Given the description of an element on the screen output the (x, y) to click on. 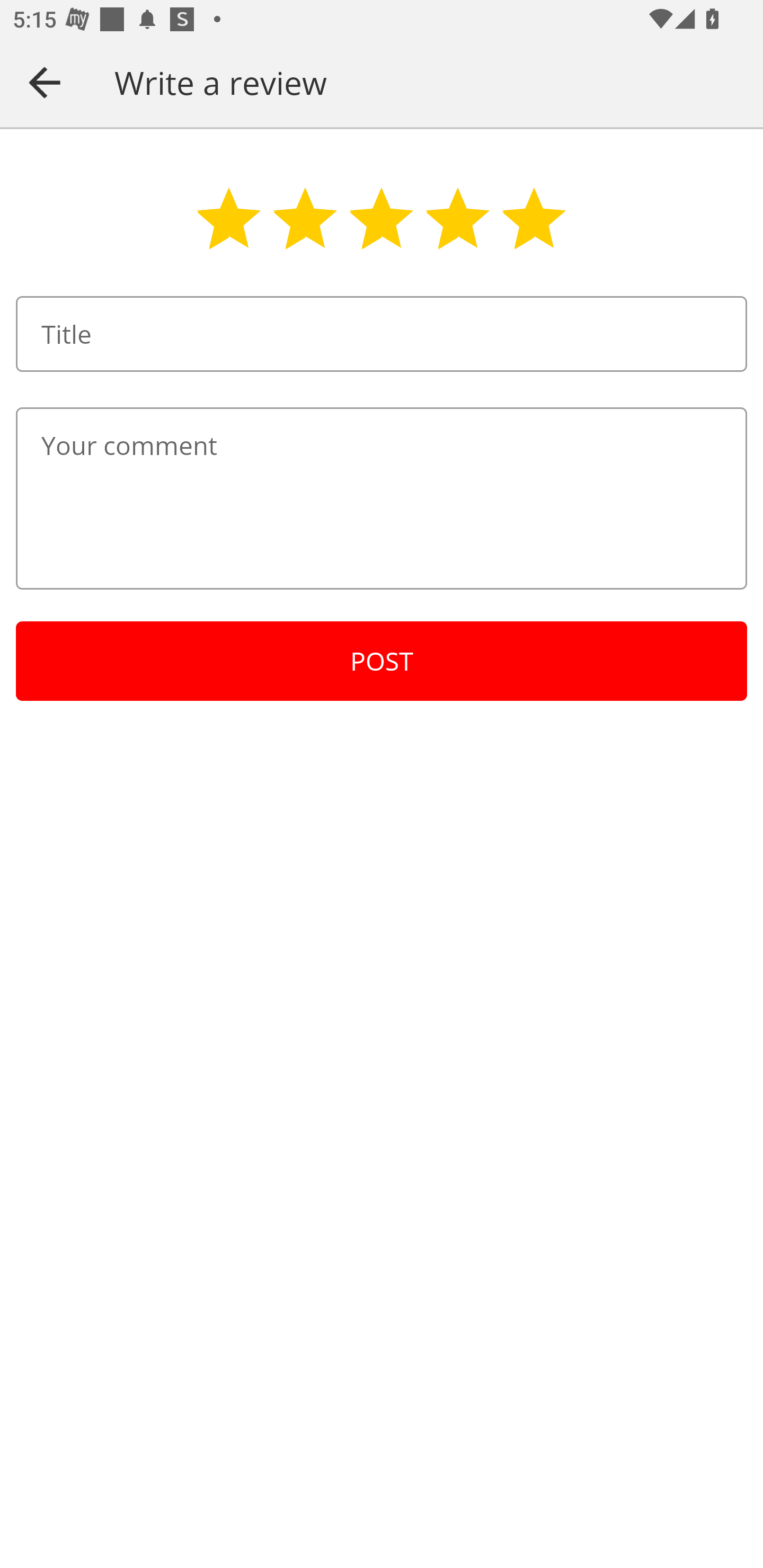
Navigate up (44, 82)
Title (381, 333)
Your comment (381, 498)
POST (381, 660)
